Given the description of an element on the screen output the (x, y) to click on. 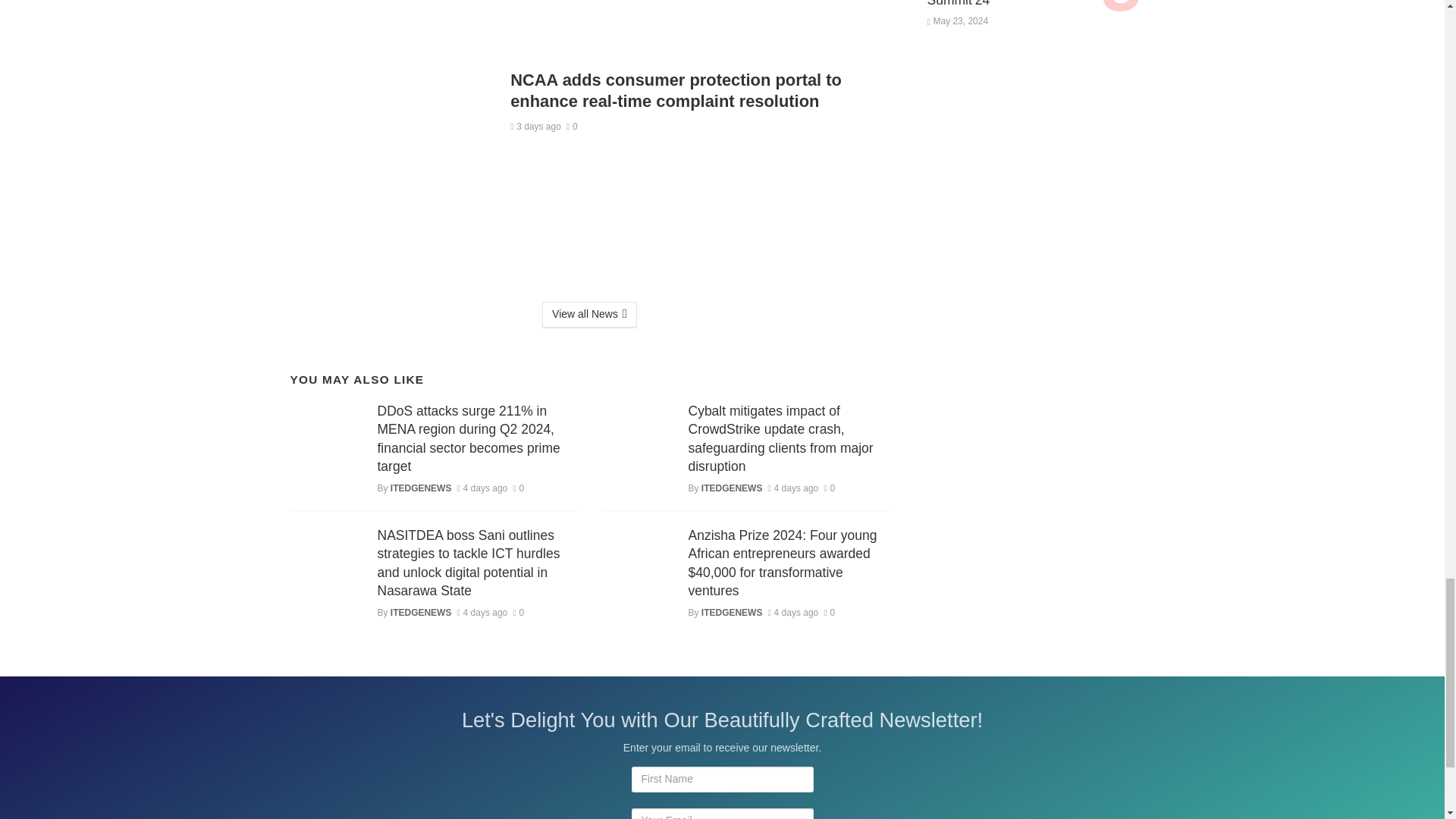
0 Comments (518, 488)
August 9, 2024 at 7:09 am (482, 488)
0 Comments (572, 126)
August 9, 2024 at 9:40 am (535, 126)
